Given the description of an element on the screen output the (x, y) to click on. 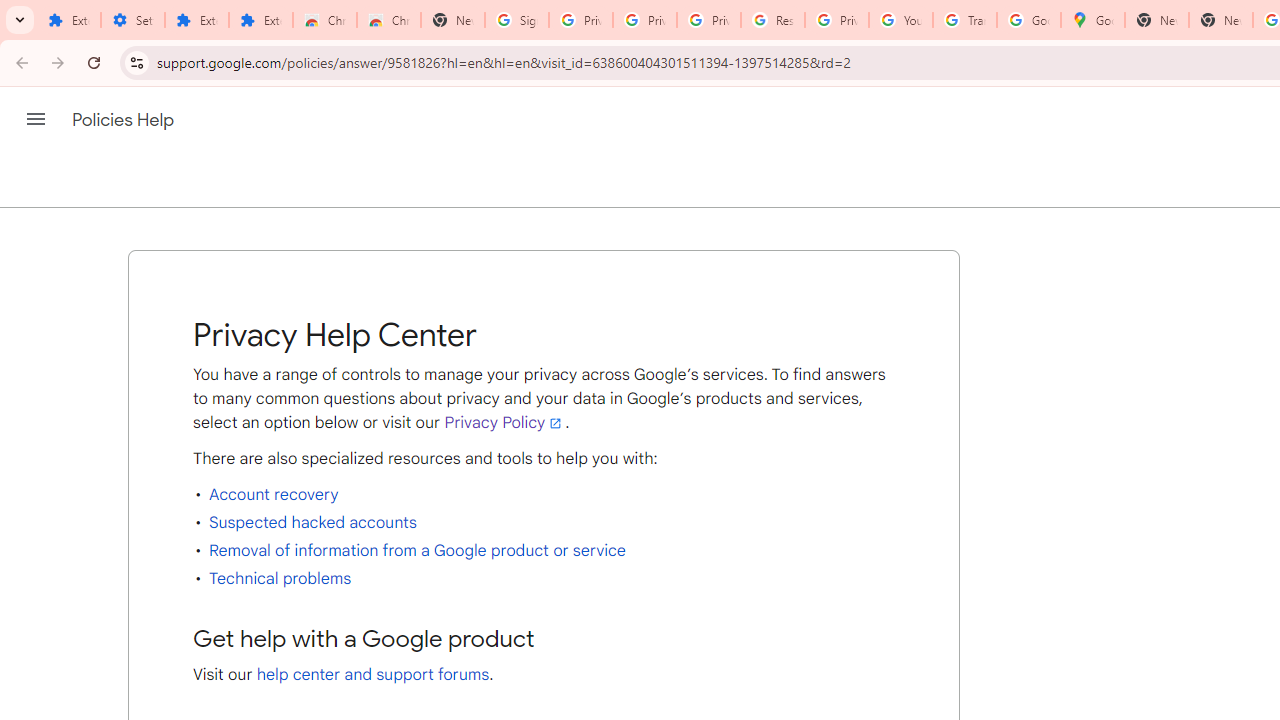
New Tab (1221, 20)
New Tab (453, 20)
Chrome Web Store - Themes (389, 20)
Privacy Policy (504, 422)
YouTube (901, 20)
Account recovery (273, 494)
Extensions (69, 20)
